Given the description of an element on the screen output the (x, y) to click on. 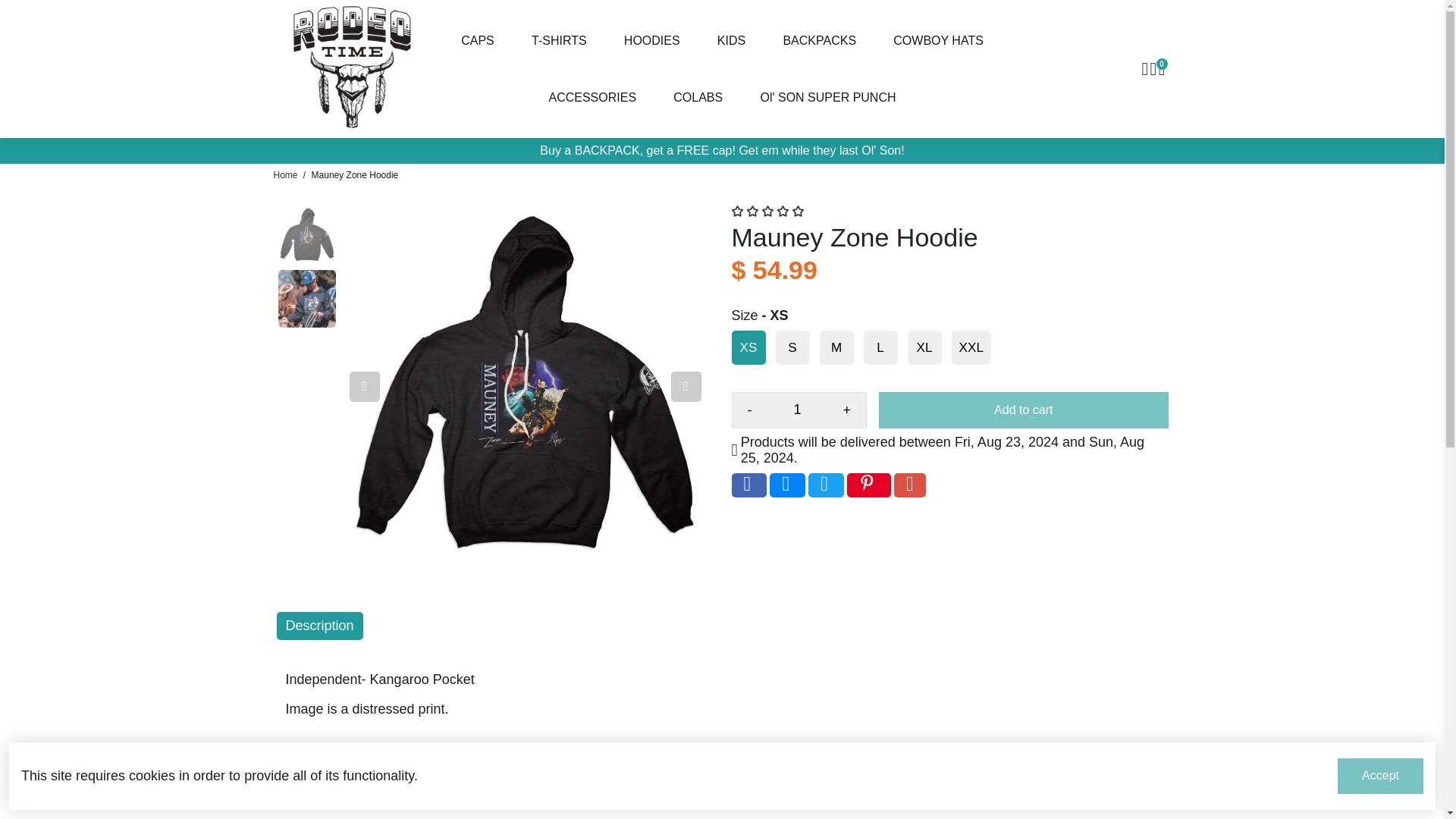
Home (285, 174)
BACKPACKS (818, 40)
1 (797, 410)
COLABS (698, 97)
KIDS (730, 40)
COWBOY HATS (937, 40)
T-SHIRTS (559, 40)
HOODIES (651, 40)
CAPS (477, 40)
ACCESSORIES (591, 97)
